Given the description of an element on the screen output the (x, y) to click on. 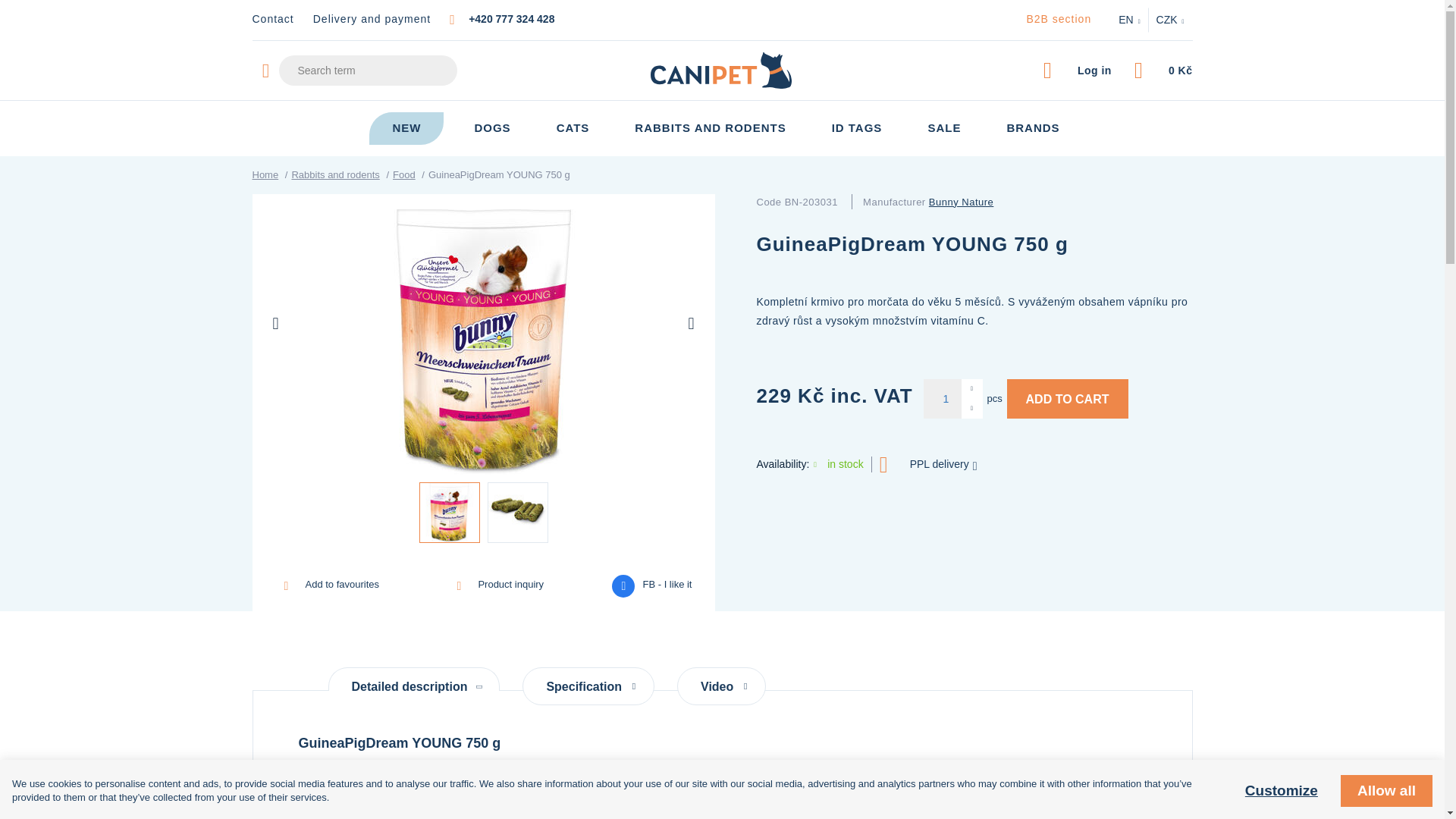
Detailed description (413, 679)
DOGS (491, 128)
Remove 1 pc (971, 408)
SALE (944, 128)
RABBITS AND RODENTS (709, 128)
NEW (406, 128)
Video (721, 686)
Food (403, 173)
B2B section (1058, 19)
1 (941, 398)
Contact (272, 19)
Specification (587, 686)
Cart (1163, 69)
Search (1051, 90)
Log in (1077, 69)
